Given the description of an element on the screen output the (x, y) to click on. 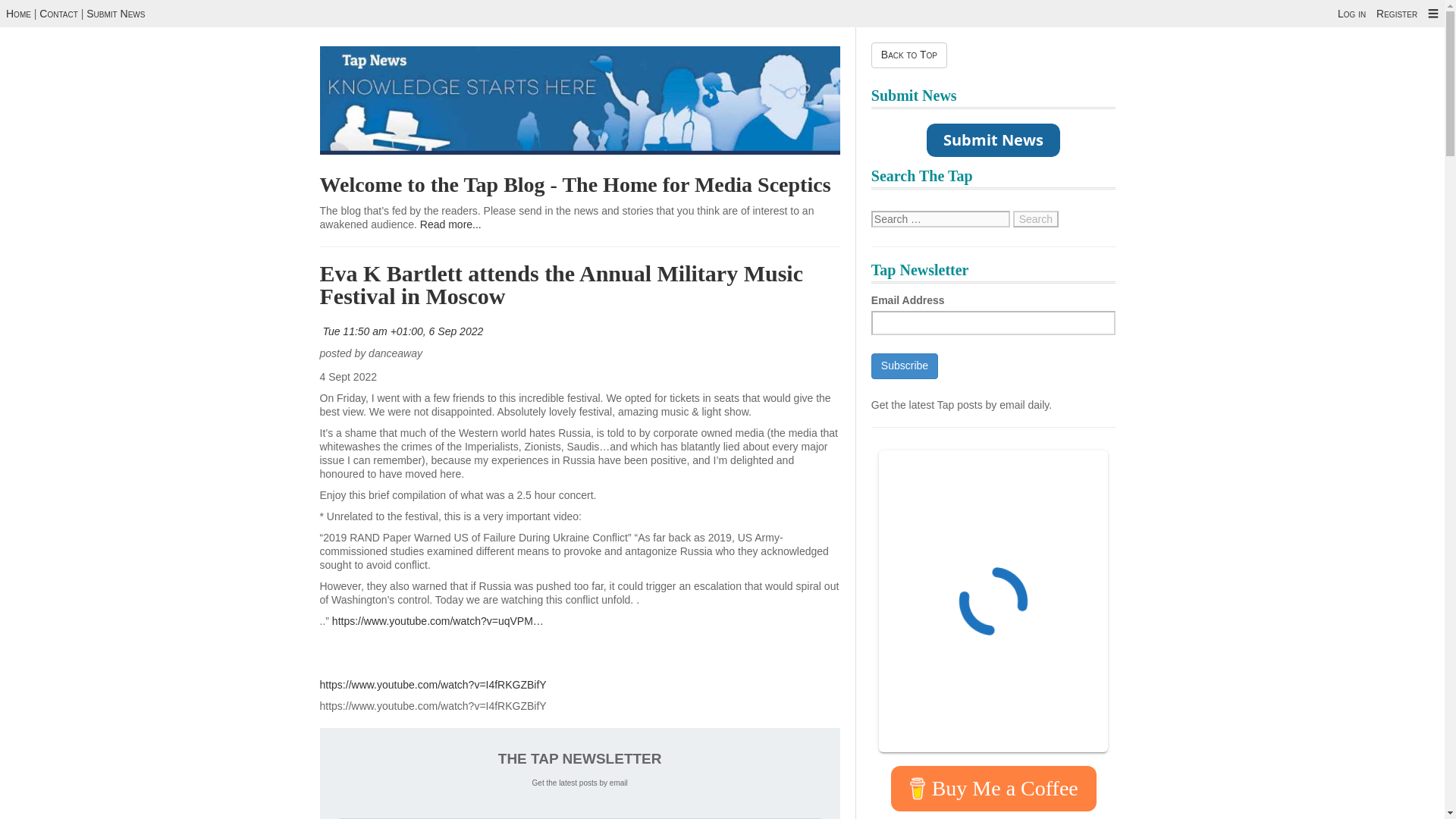
Welcome to the Tap Blog - The Home for Media Sceptics (575, 184)
Submit News (114, 13)
Contact (58, 13)
Back to Top (908, 54)
Search (1035, 218)
Back to Top (908, 54)
Register (1395, 13)
Contact Us (58, 13)
Permanent Link to Welcome to The Tap Blog (575, 184)
